Given the description of an element on the screen output the (x, y) to click on. 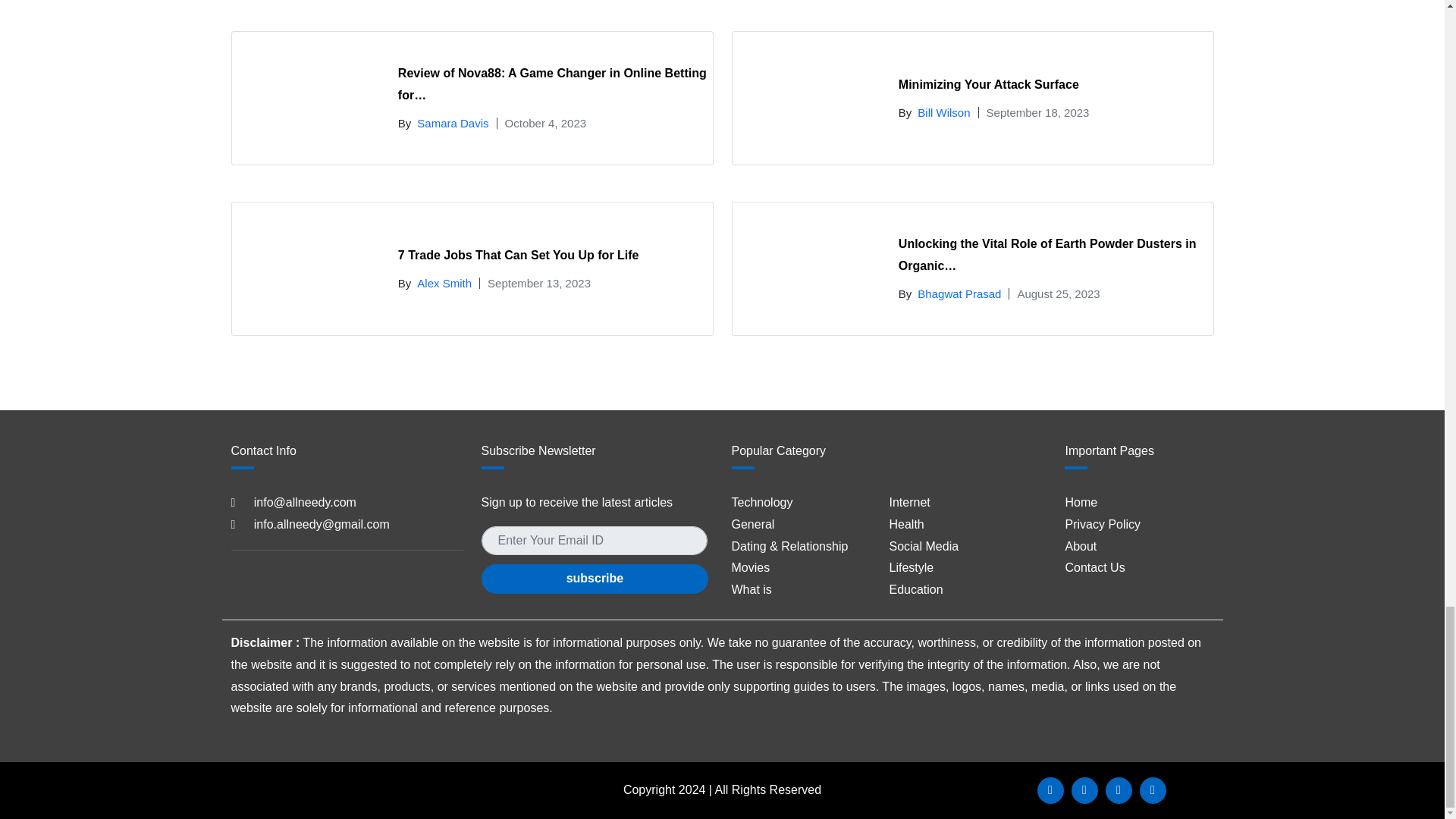
subscribe (593, 578)
Search for: (593, 540)
